Given the description of an element on the screen output the (x, y) to click on. 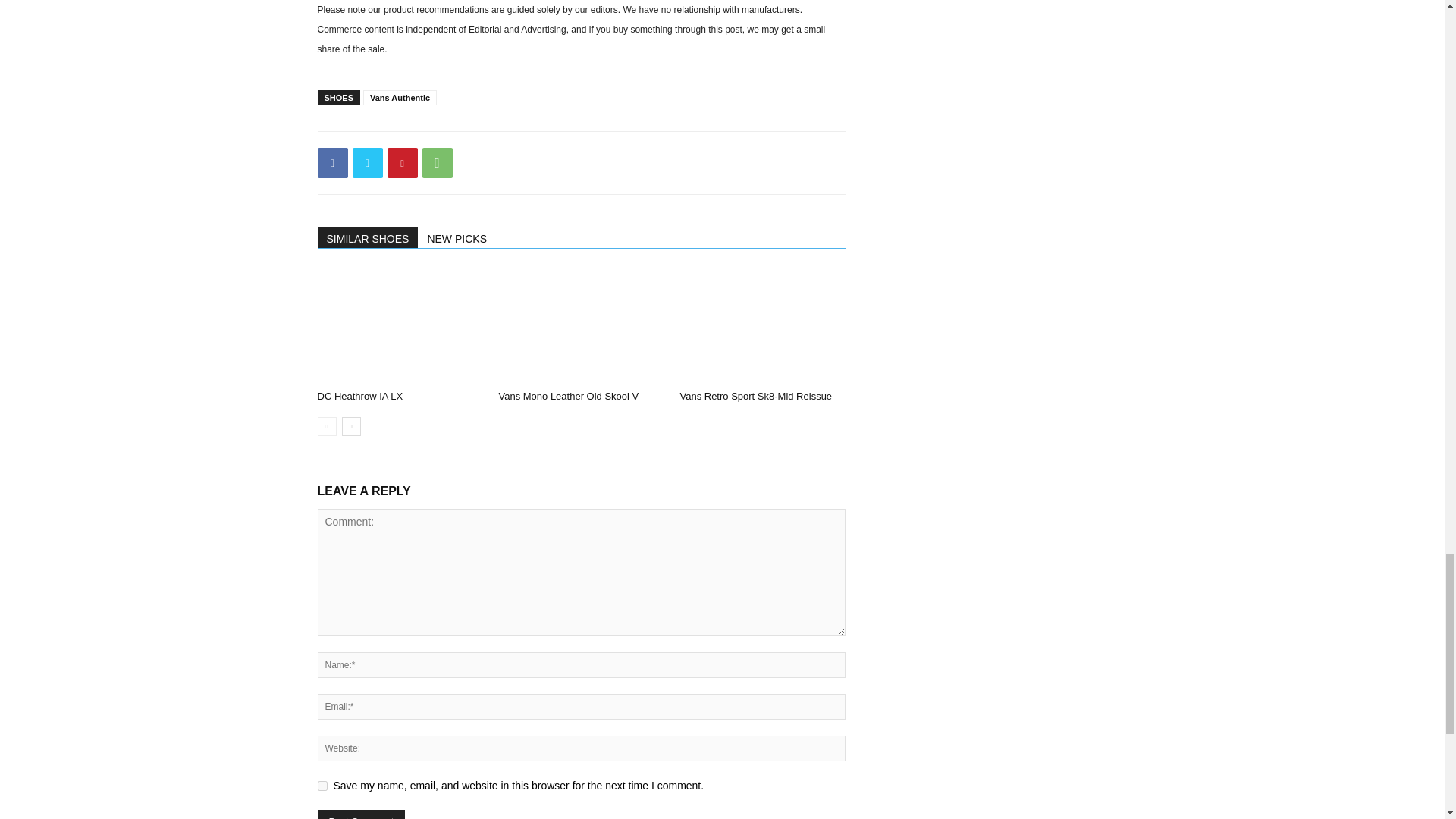
Facebook (332, 163)
Post Comment (360, 814)
yes (321, 786)
Twitter (366, 163)
WhatsApp (436, 163)
Pinterest (401, 163)
